Given the description of an element on the screen output the (x, y) to click on. 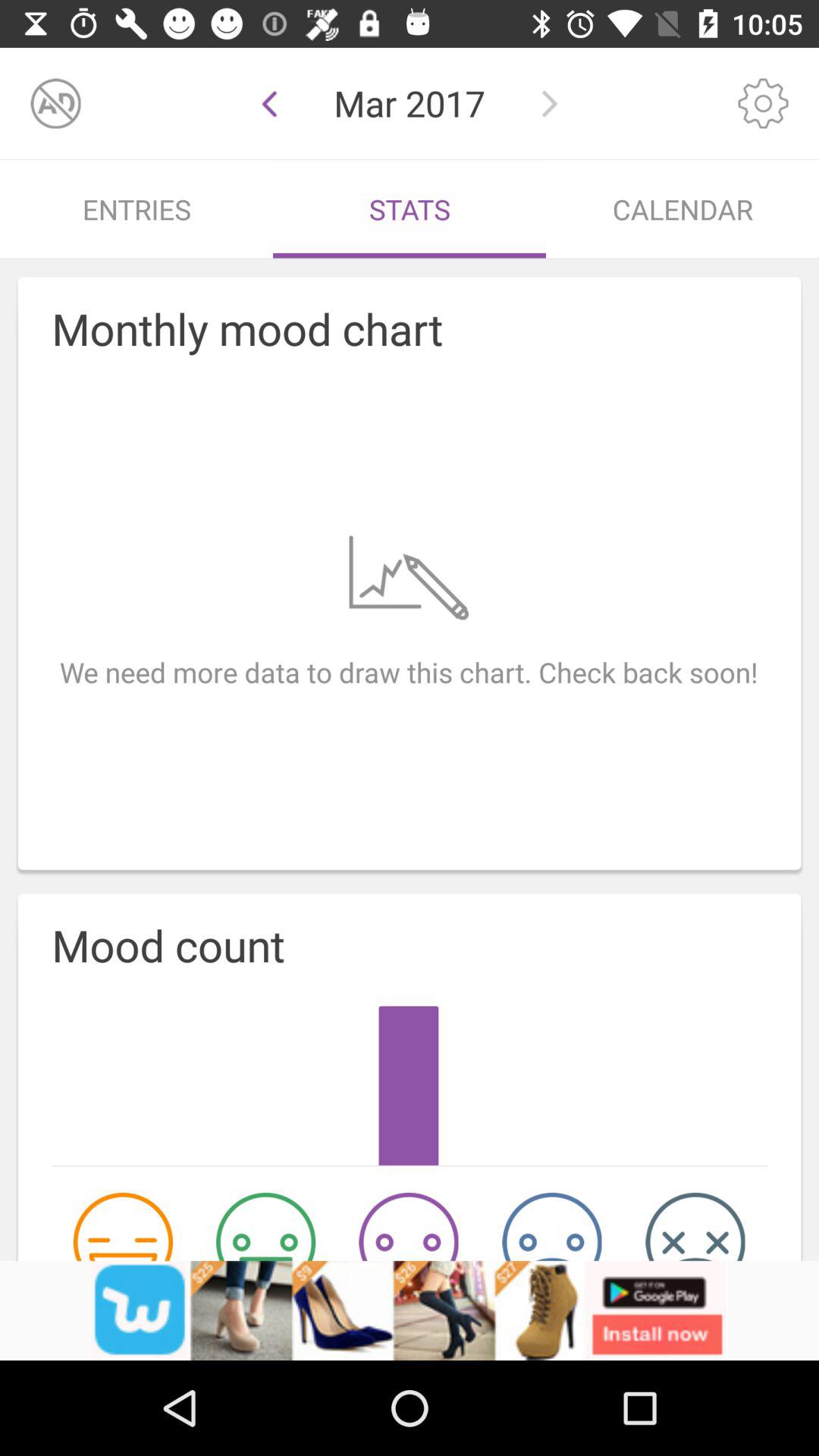
backword to option (269, 103)
